Given the description of an element on the screen output the (x, y) to click on. 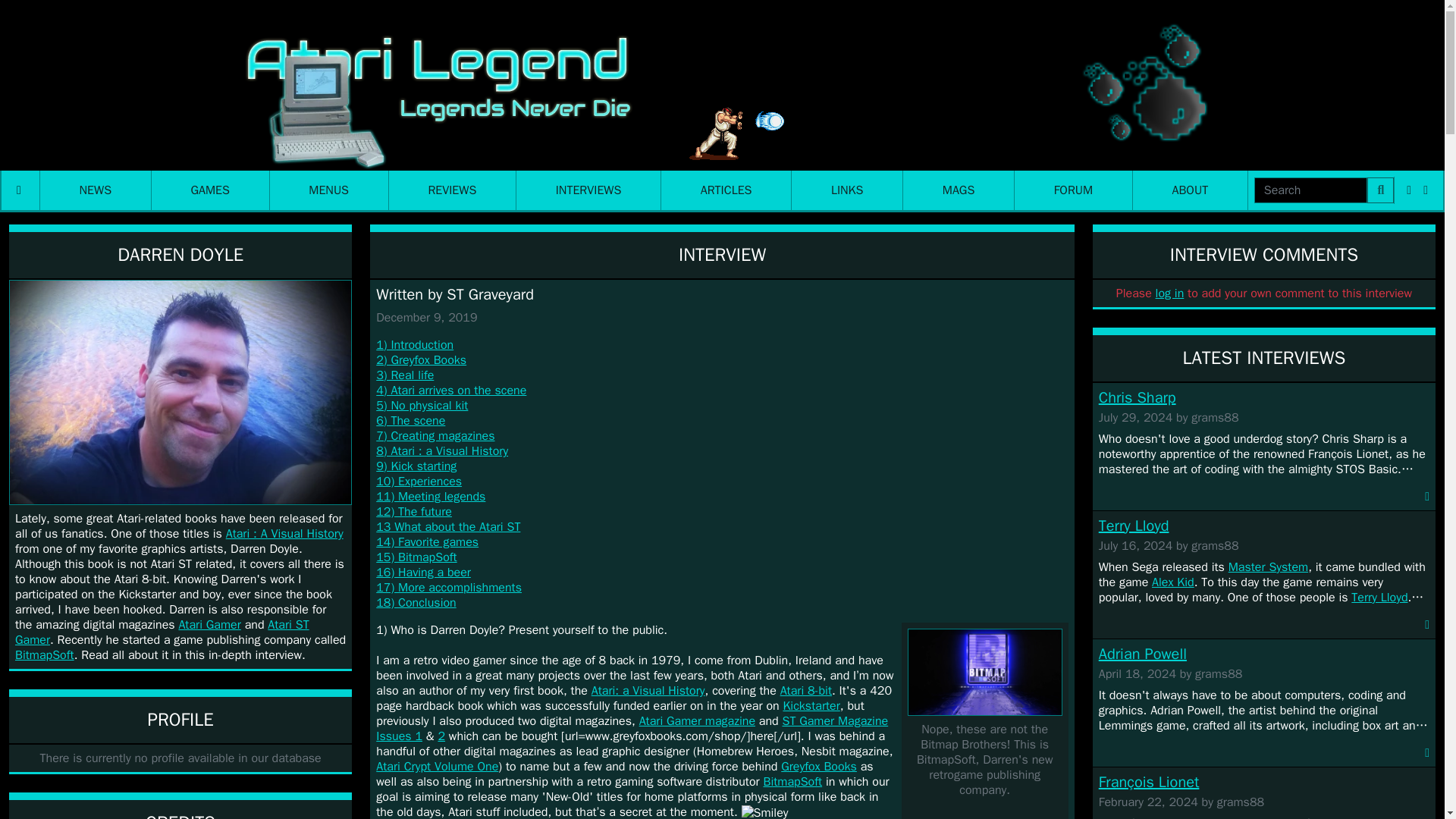
13 What about the Atari ST (447, 526)
REVIEWS (451, 189)
ABOUT (1189, 189)
FORUM (1073, 189)
NEWS (95, 189)
GAMES (210, 189)
BitmapSoft (44, 654)
Atari ST Gamer (161, 632)
Atari : A Visual History (284, 533)
MAGS (957, 189)
